Given the description of an element on the screen output the (x, y) to click on. 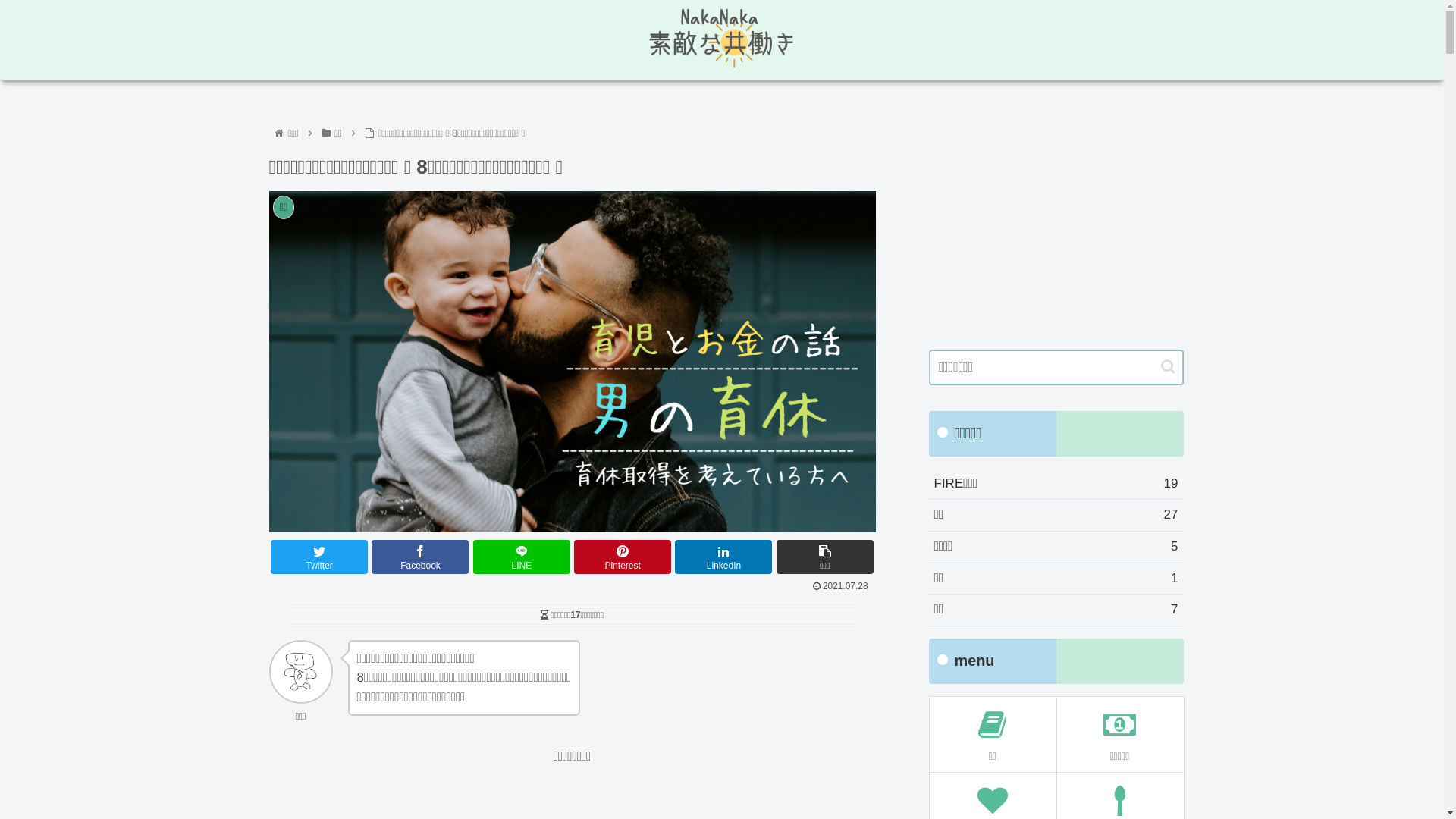
LinkedIn Element type: text (722, 556)
Twitter Element type: text (318, 556)
Advertisement Element type: hover (1055, 219)
Facebook Element type: text (419, 556)
LINE Element type: text (521, 556)
Pinterest Element type: text (622, 556)
